Given the description of an element on the screen output the (x, y) to click on. 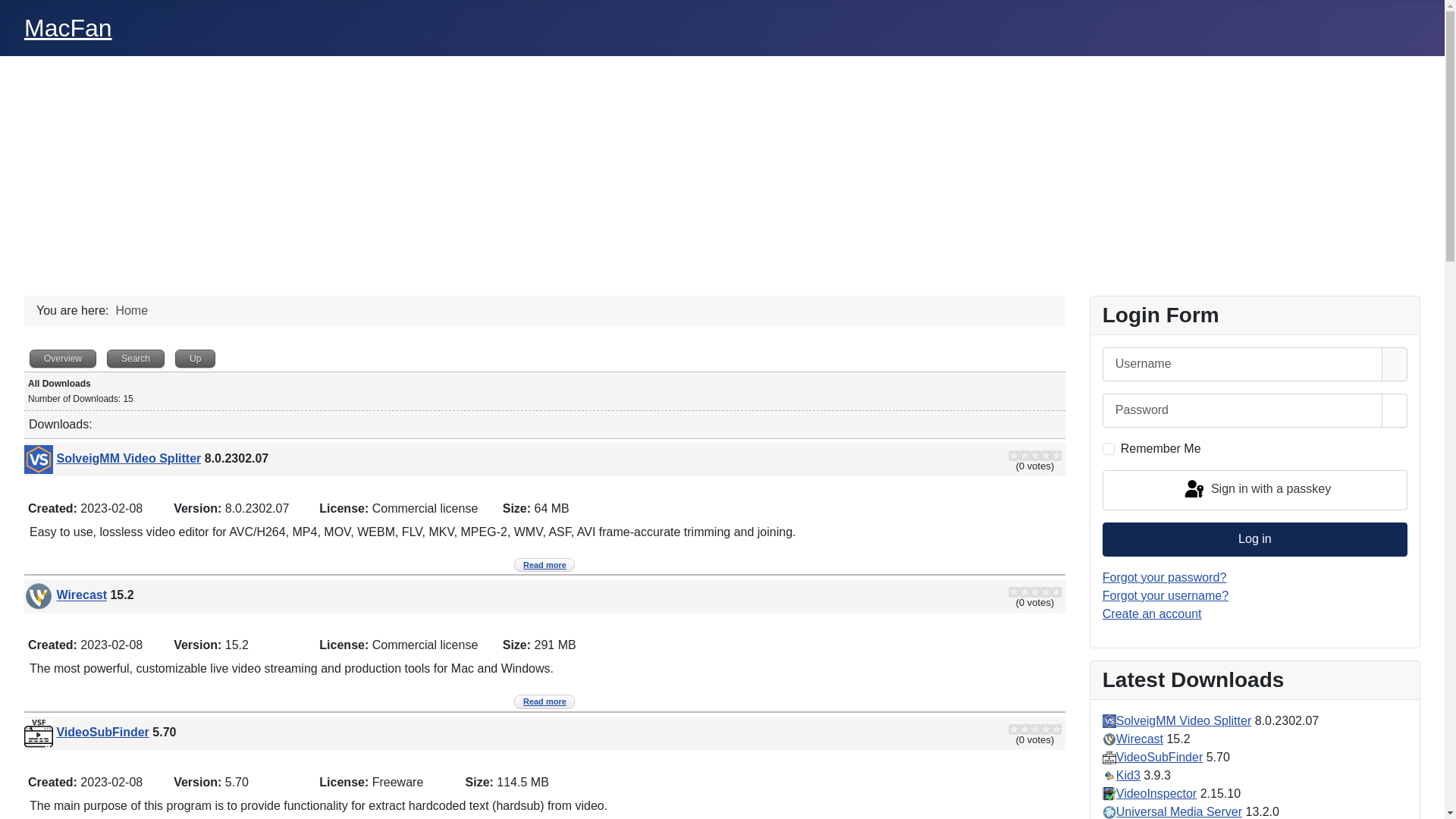
2 stars out of 5 Element type: hover (1018, 455)
Universal Media Server Element type: text (1179, 811)
3 stars out of 5 Element type: hover (1024, 455)
VideoSubFinder Element type: text (1159, 756)
3 stars out of 5 Element type: hover (1024, 591)
VideoInspector Element type: text (1156, 793)
Read more Element type: text (544, 564)
Show Password Element type: text (1394, 410)
5 stars out of 5 Element type: hover (1034, 455)
Wirecast Element type: text (1139, 738)
SolveigMM Video Splitter Element type: text (128, 457)
Read more Element type: text (544, 701)
Wirecast Element type: text (81, 595)
3 stars out of 5 Element type: hover (1024, 729)
VideoSubFinder Element type: text (102, 731)
5 stars out of 5 Element type: hover (1034, 591)
1 star out of 5 Element type: hover (1013, 591)
SolveigMM Video Splitter Element type: text (1183, 720)
2 stars out of 5 Element type: hover (1018, 591)
5 stars out of 5 Element type: hover (1034, 729)
4 stars out of 5 Element type: hover (1029, 729)
1 star out of 5 Element type: hover (1013, 455)
1 star out of 5 Element type: hover (1013, 729)
Create an account Element type: text (1151, 613)
4 stars out of 5 Element type: hover (1029, 591)
MacFan Element type: text (68, 27)
4 stars out of 5 Element type: hover (1029, 455)
Forgot your password? Element type: text (1164, 577)
Kid3 Element type: text (1128, 774)
Log in Element type: text (1254, 539)
Advertisement Element type: hover (721, 169)
Up Element type: text (194, 358)
Username Element type: hover (1394, 364)
2 stars out of 5 Element type: hover (1018, 729)
Sign in with a passkey Element type: text (1254, 490)
Forgot your username? Element type: text (1165, 595)
Search Element type: text (135, 358)
Overview Element type: text (62, 358)
